Given the description of an element on the screen output the (x, y) to click on. 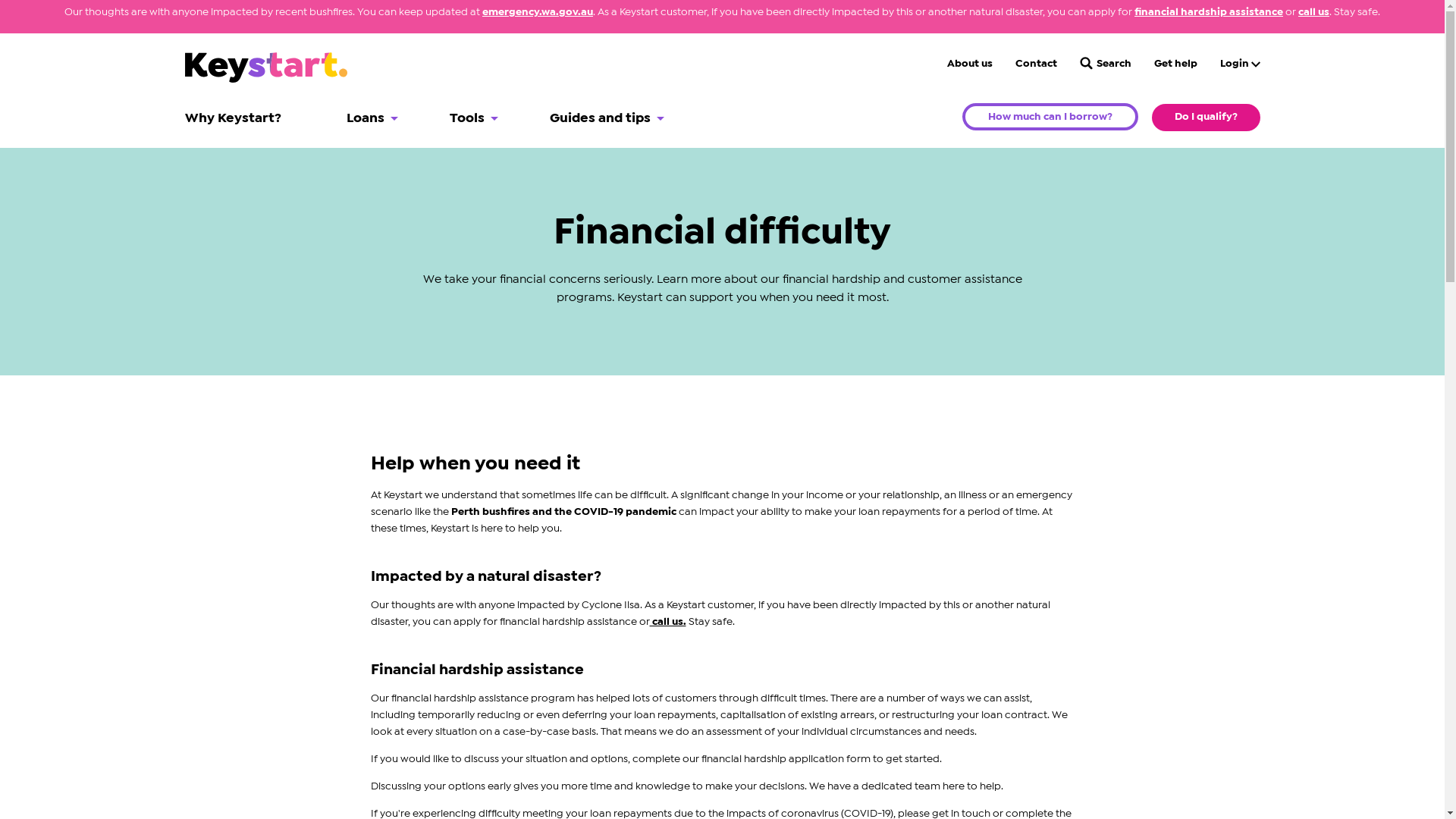
Search Element type: text (1105, 63)
Guides and tips Element type: text (606, 117)
Contact Element type: text (1035, 63)
call us. Element type: text (667, 620)
Tools Element type: text (472, 117)
call us Element type: text (1313, 11)
financial hardship assistance Element type: text (1208, 11)
Why Keystart? Element type: text (239, 117)
Login Element type: text (1239, 63)
About us Element type: text (968, 63)
Loans Element type: text (371, 117)
Get help Element type: text (1175, 63)
Do I qualify? Element type: text (1205, 117)
emergency.wa.gov.au Element type: text (537, 11)
How much can I borrow? Element type: text (1049, 116)
